Given the description of an element on the screen output the (x, y) to click on. 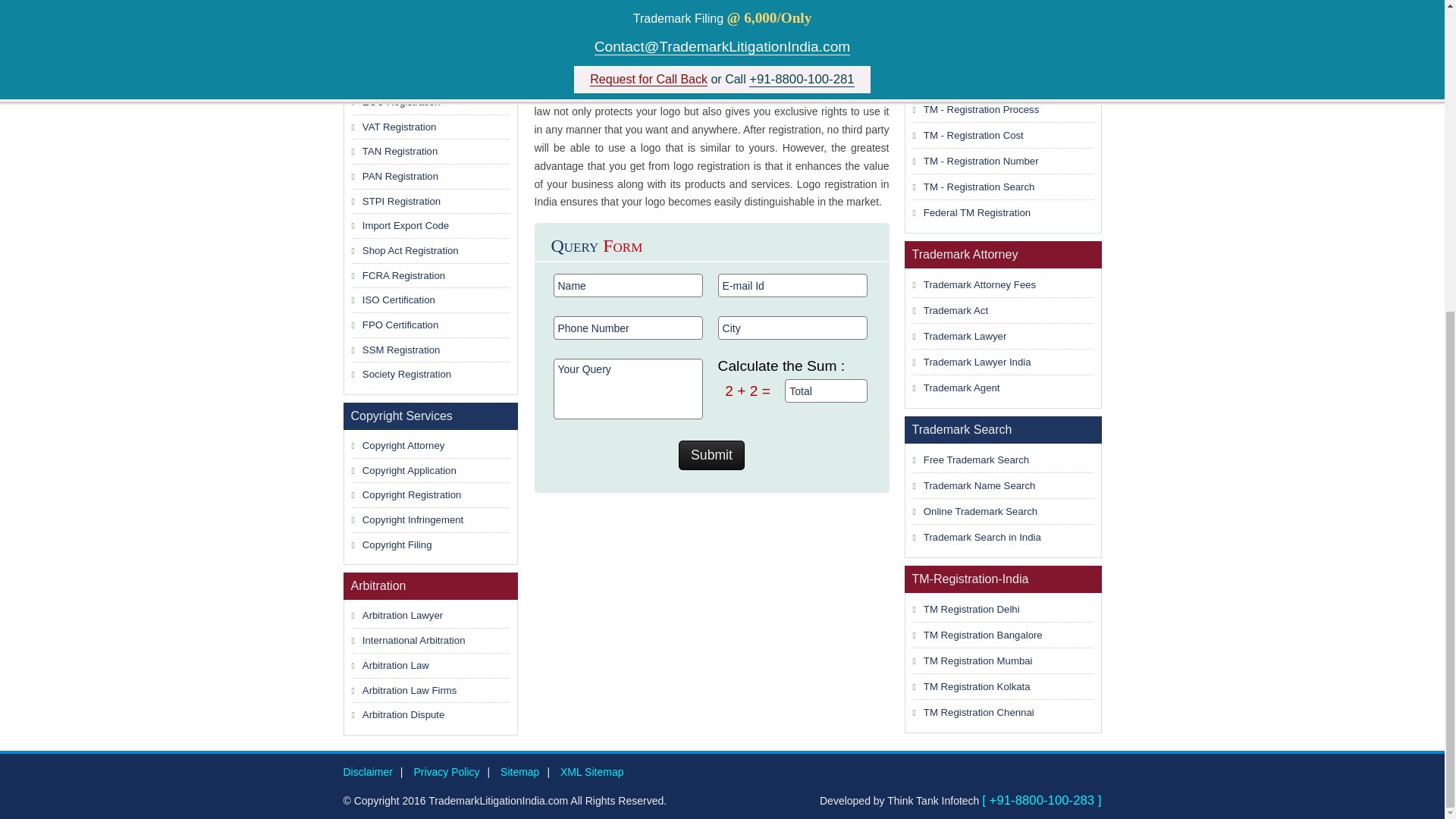
TAN Registration (400, 151)
Import Export Code (405, 225)
PAN Registration (400, 175)
FCRA Registration (403, 275)
Name (628, 285)
EOU Registration (401, 101)
Firm Registration (400, 76)
City (792, 327)
Phone Number (628, 327)
E-mail Id (792, 285)
